Given the description of an element on the screen output the (x, y) to click on. 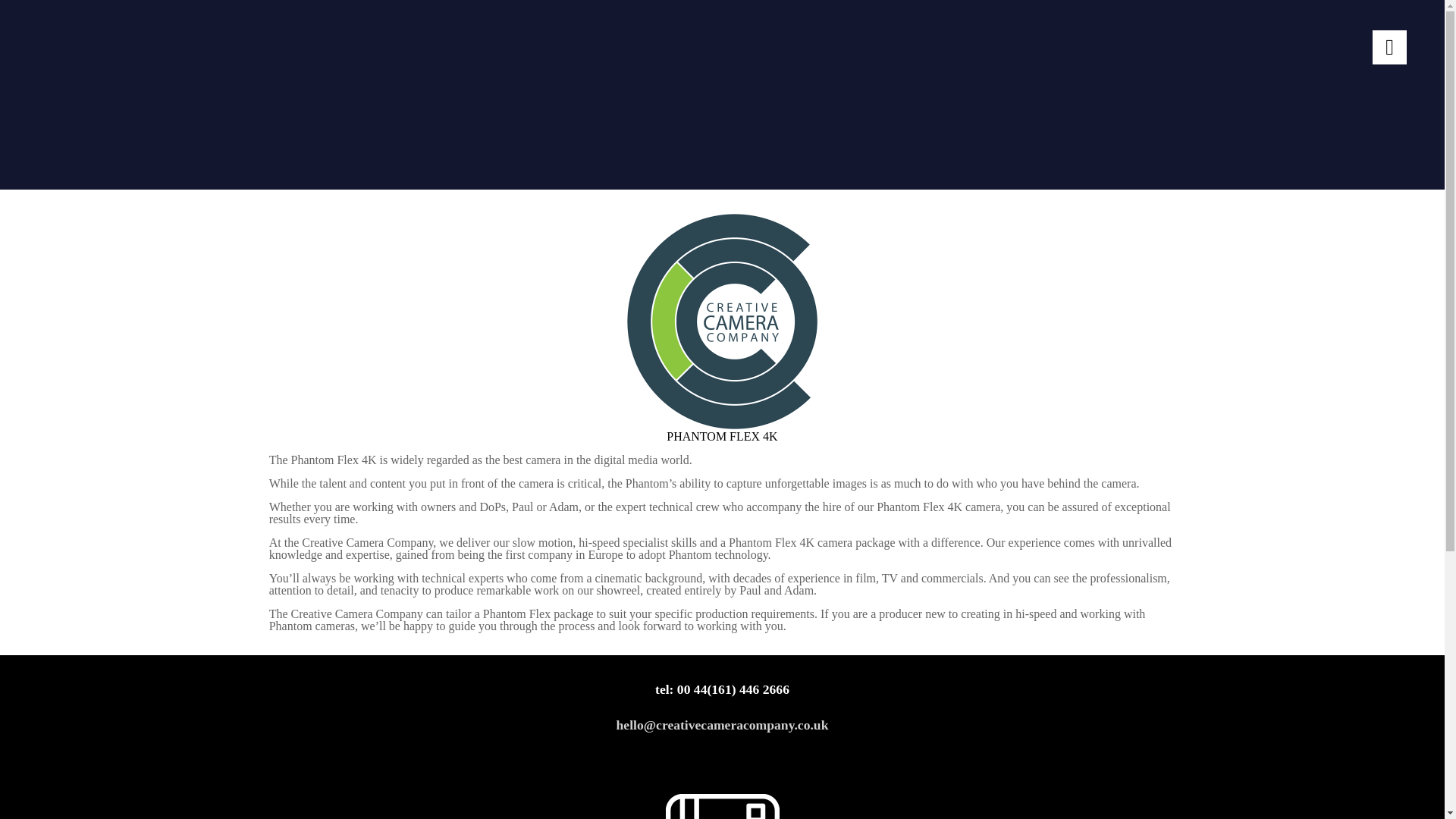
INSTAGRAM (721, 806)
